Given the description of an element on the screen output the (x, y) to click on. 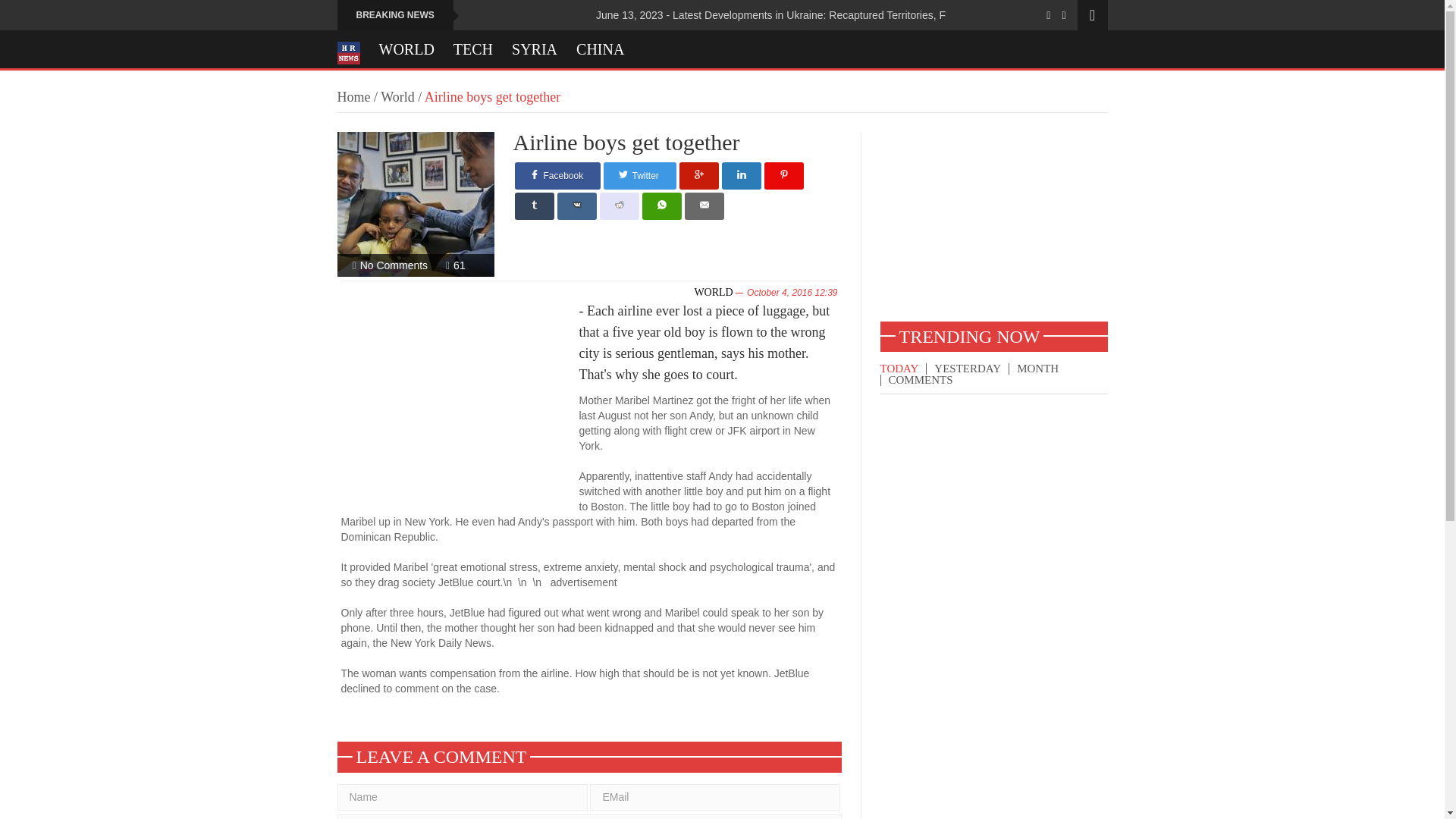
TECH (472, 48)
No Comments (393, 265)
SYRIA (534, 48)
Home (352, 96)
Comment on Airline boys get together (393, 265)
WORLD (405, 48)
WORLD (713, 292)
CHINA (600, 48)
World (397, 96)
